Given the description of an element on the screen output the (x, y) to click on. 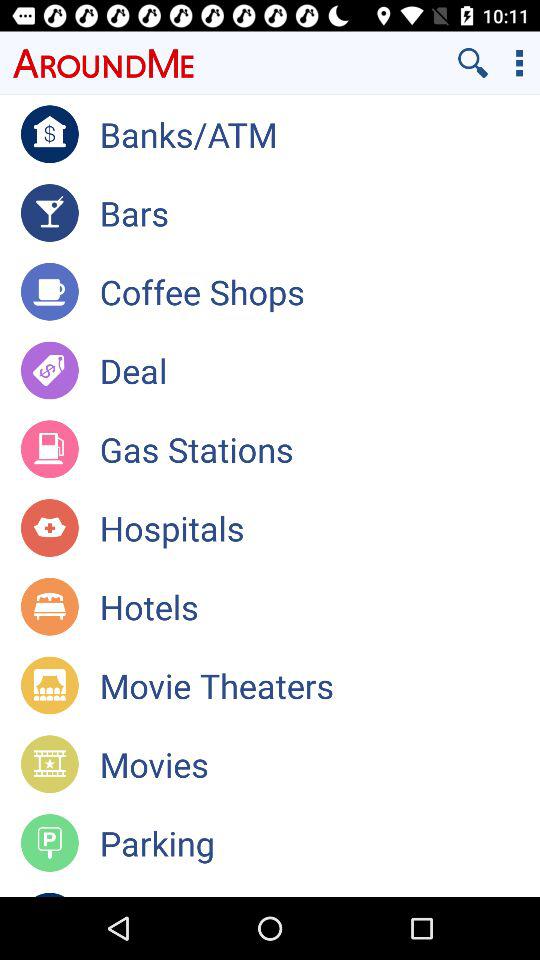
swipe until banks/atm (319, 134)
